Given the description of an element on the screen output the (x, y) to click on. 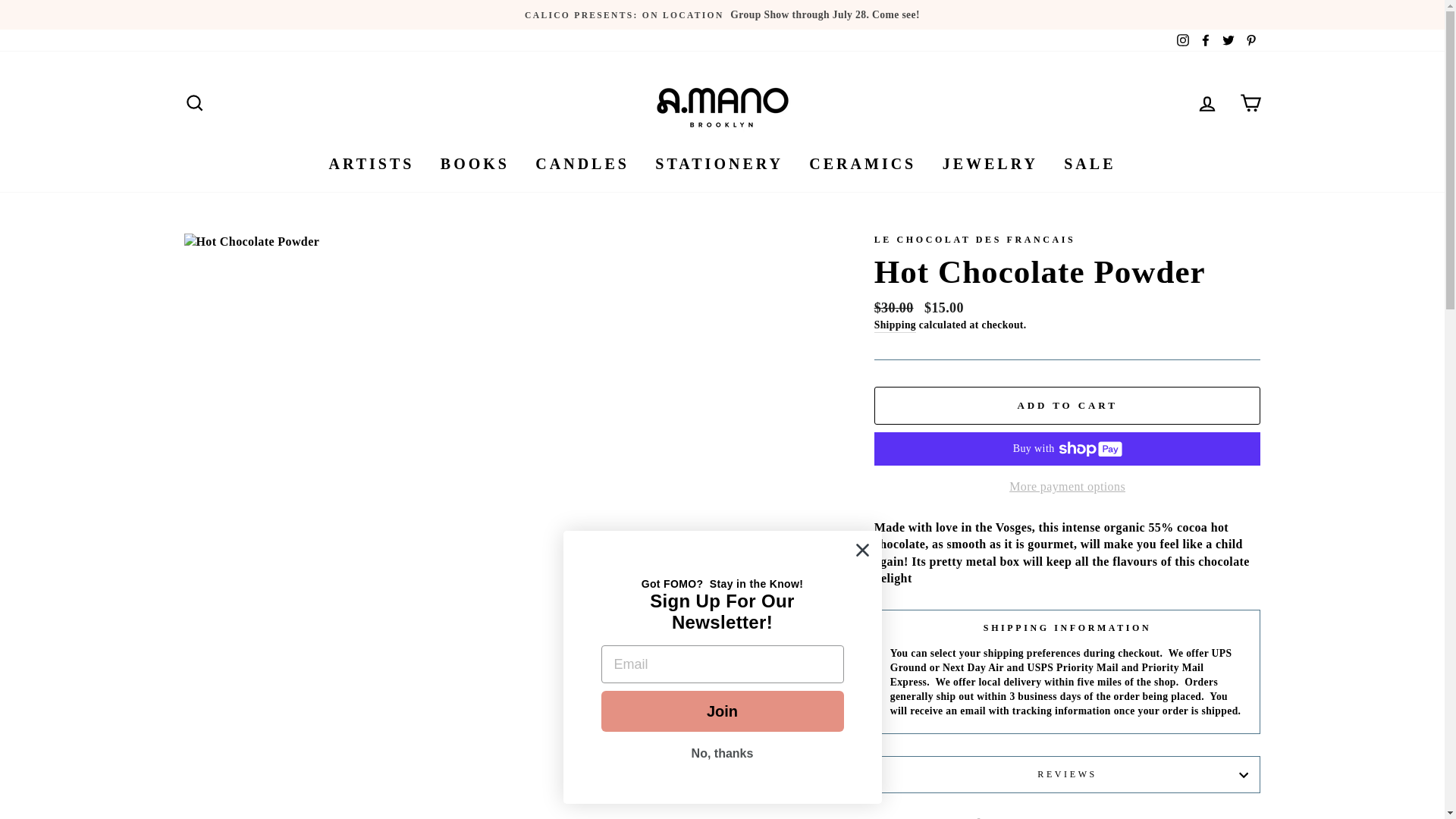
Pin on Pinterest (1136, 817)
A.MANO Brooklyn on Facebook (1205, 40)
Tweet on Twitter (1067, 817)
A.MANO Brooklyn on Instagram (1182, 40)
A.MANO Brooklyn on Pinterest (1250, 40)
Share on Facebook (997, 817)
A.MANO Brooklyn on Twitter (1228, 40)
